Given the description of an element on the screen output the (x, y) to click on. 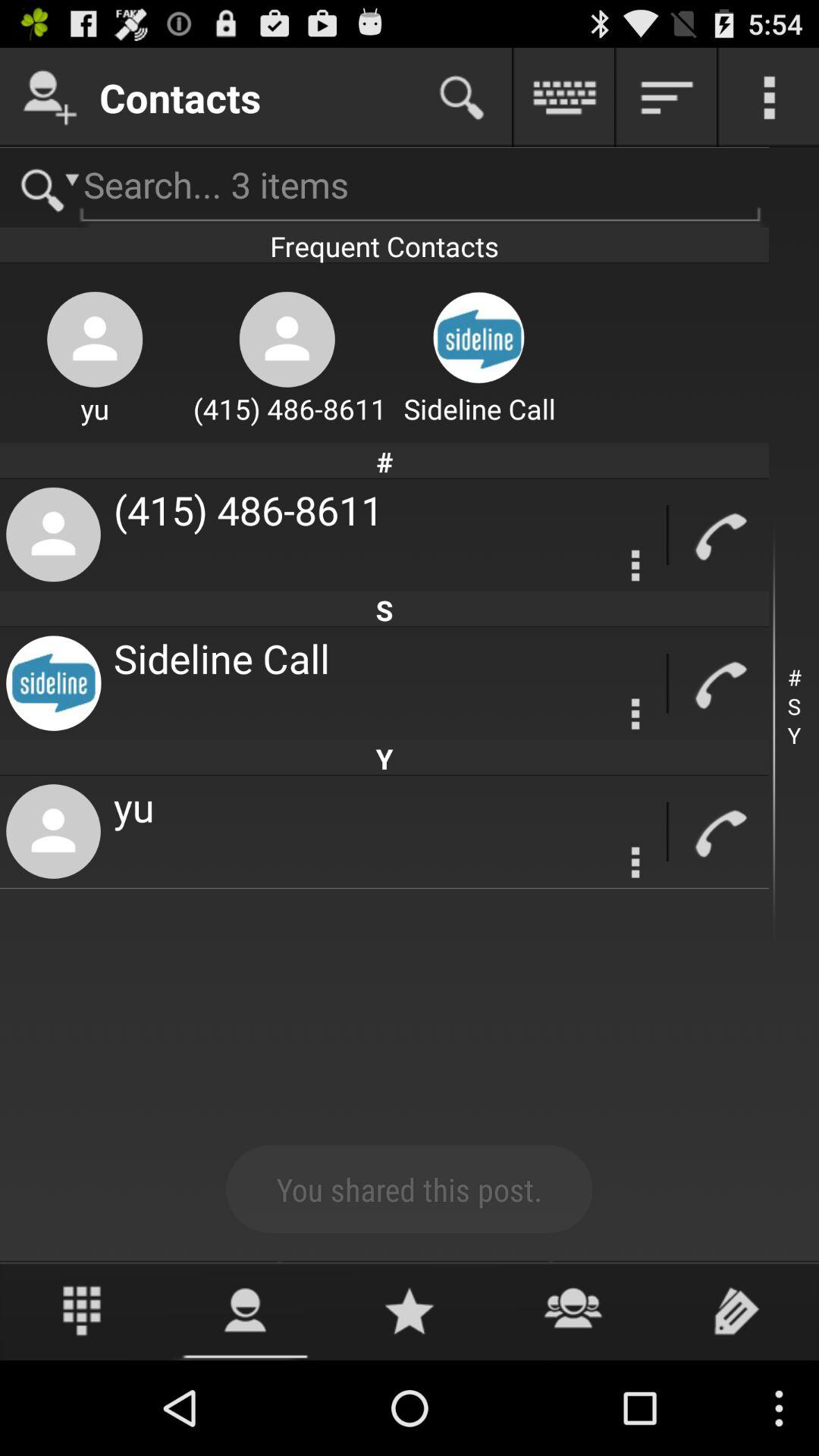
add contacts button (49, 97)
